Given the description of an element on the screen output the (x, y) to click on. 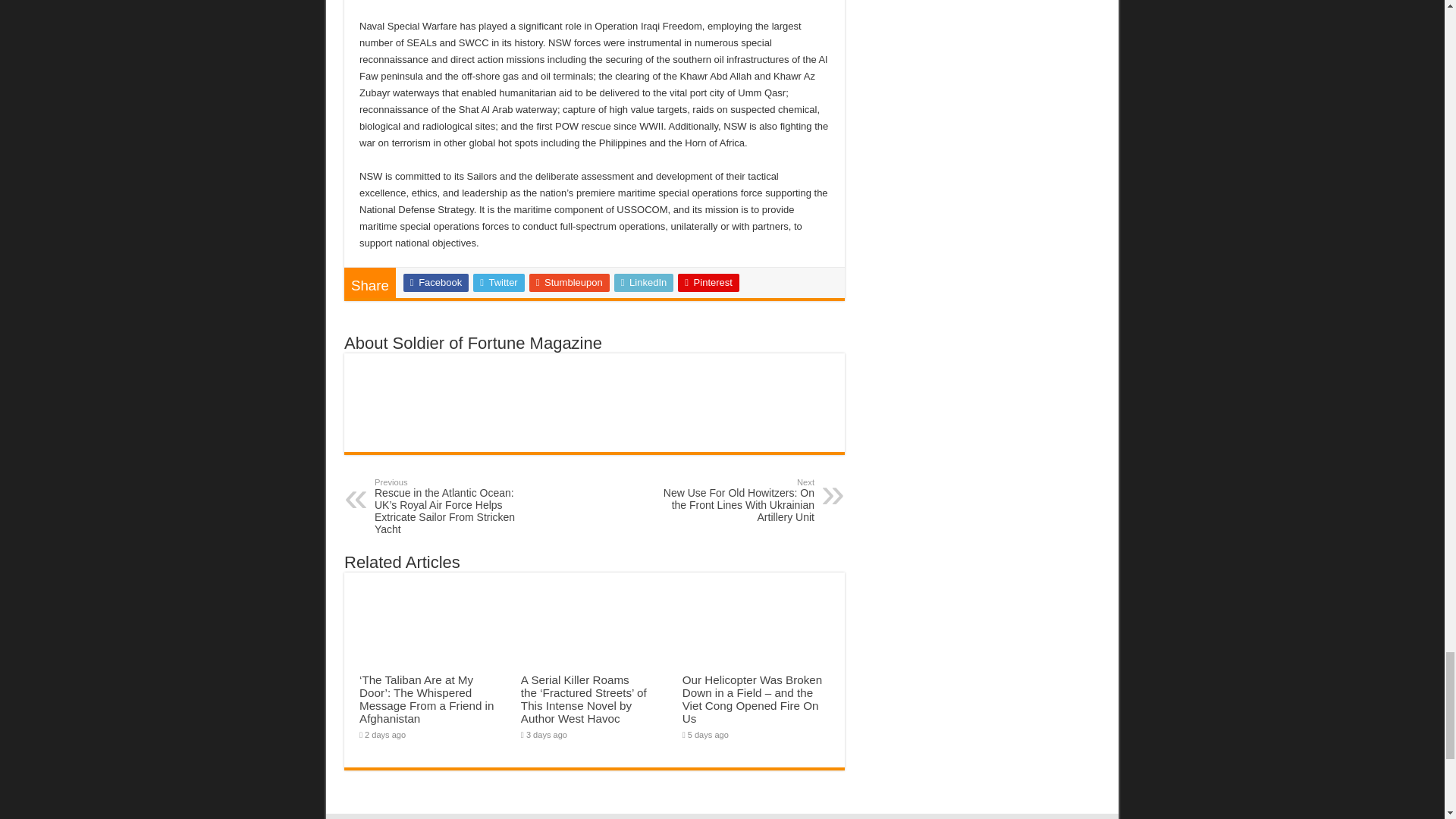
Stumbleupon (569, 282)
LinkedIn (644, 282)
Twitter (498, 282)
Facebook (435, 282)
Pinterest (708, 282)
